Given the description of an element on the screen output the (x, y) to click on. 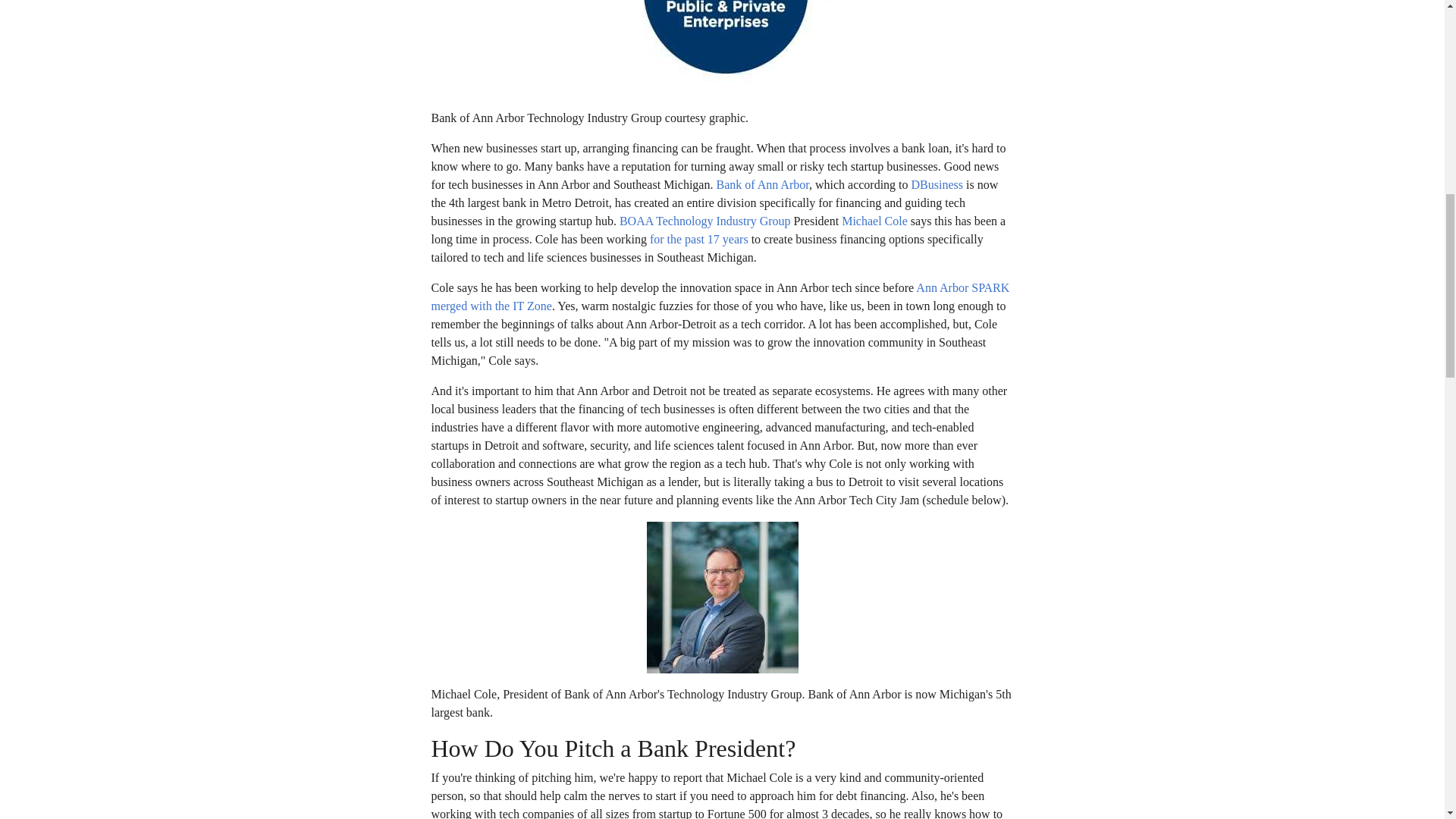
Bank of Ann Arbor (762, 184)
BOAA Technology Industry Group (705, 220)
Michael Cole (874, 220)
DBusiness (936, 184)
Ann Arbor SPARK (962, 287)
merged with the IT Zone (490, 305)
for the past 17 years (698, 238)
